Given the description of an element on the screen output the (x, y) to click on. 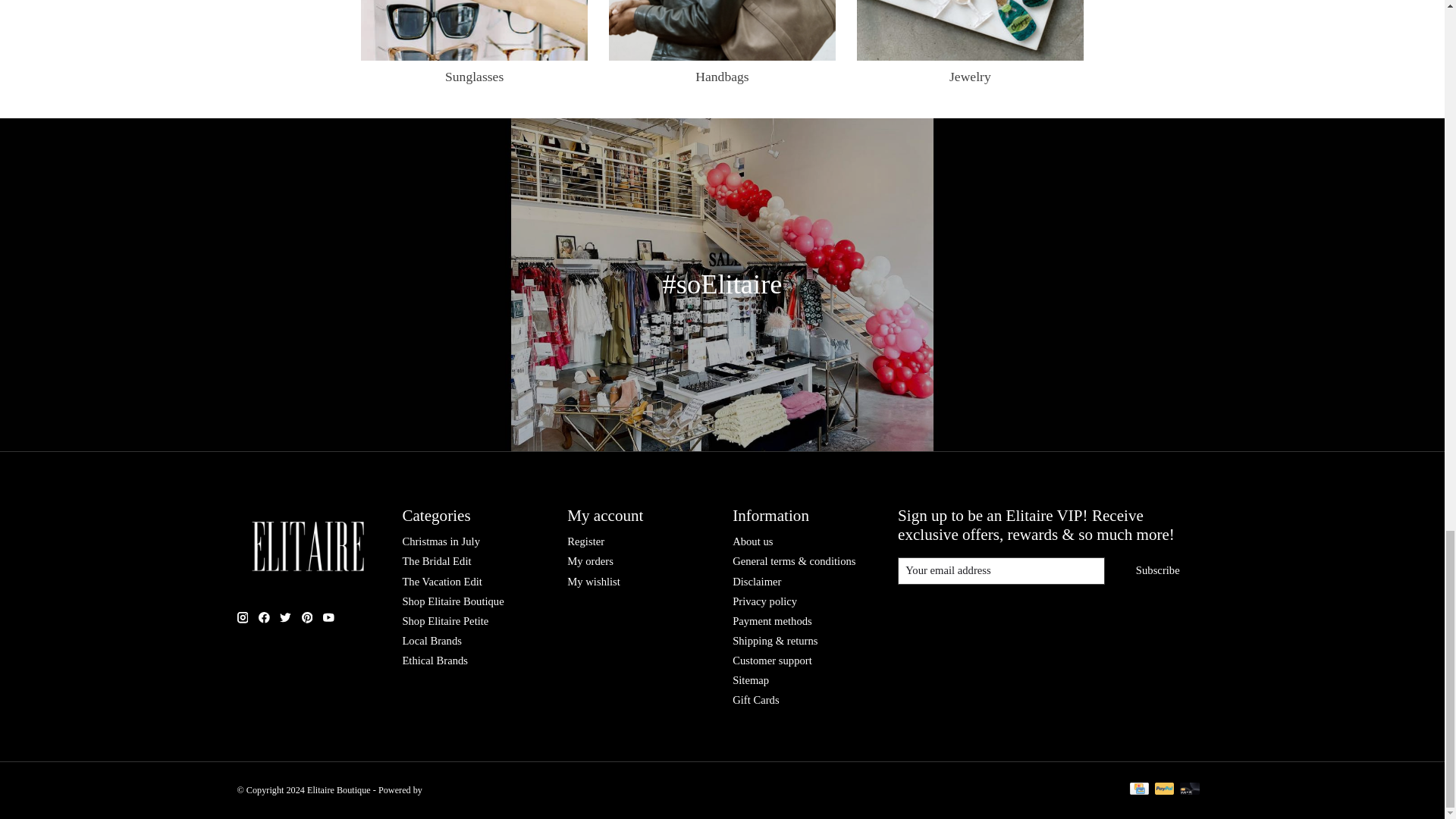
Handbags (721, 30)
Sunglasses (474, 30)
